Given the description of an element on the screen output the (x, y) to click on. 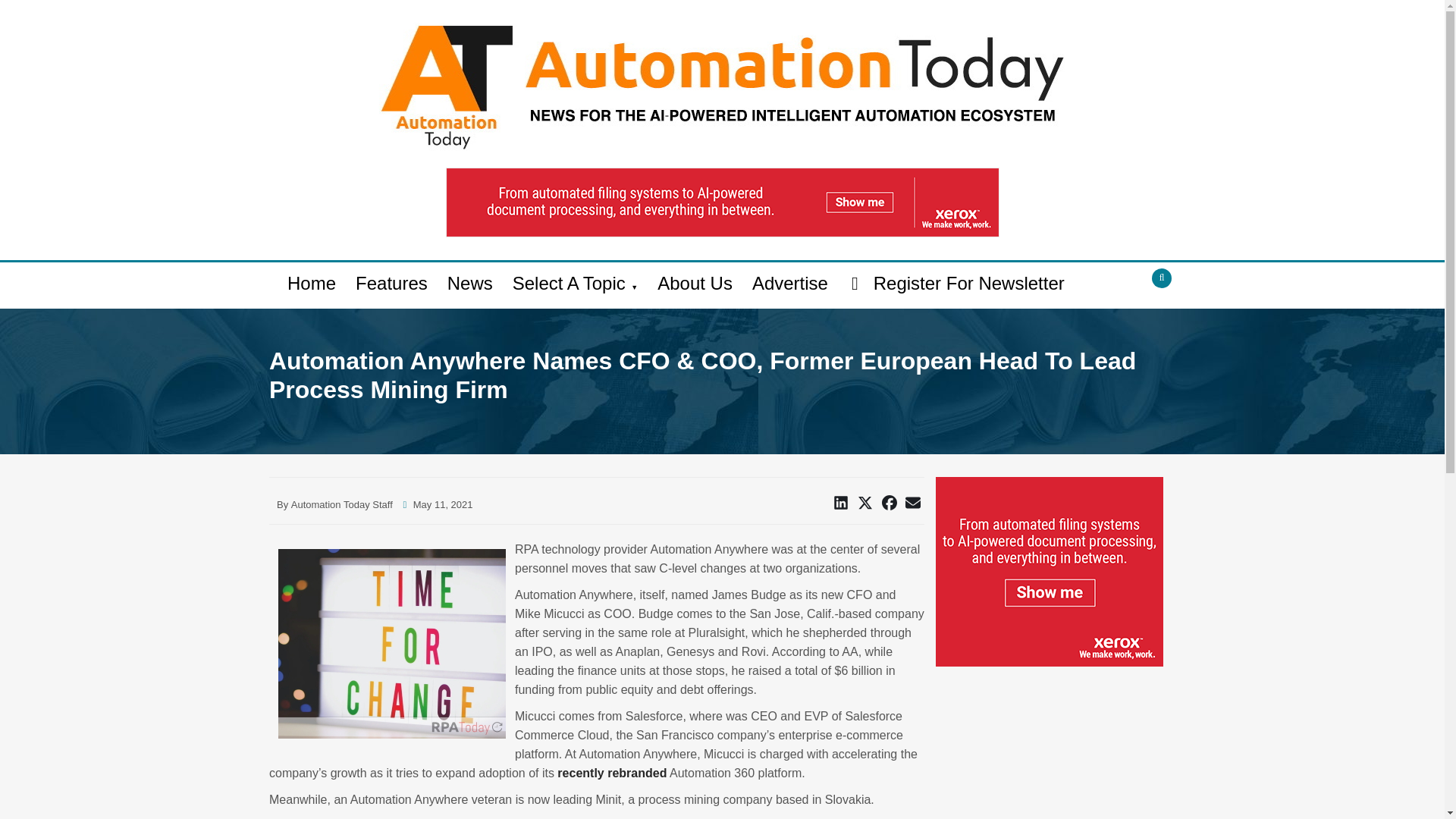
News (470, 283)
Select A Topic (574, 285)
Home (311, 283)
Features (391, 283)
